Given the description of an element on the screen output the (x, y) to click on. 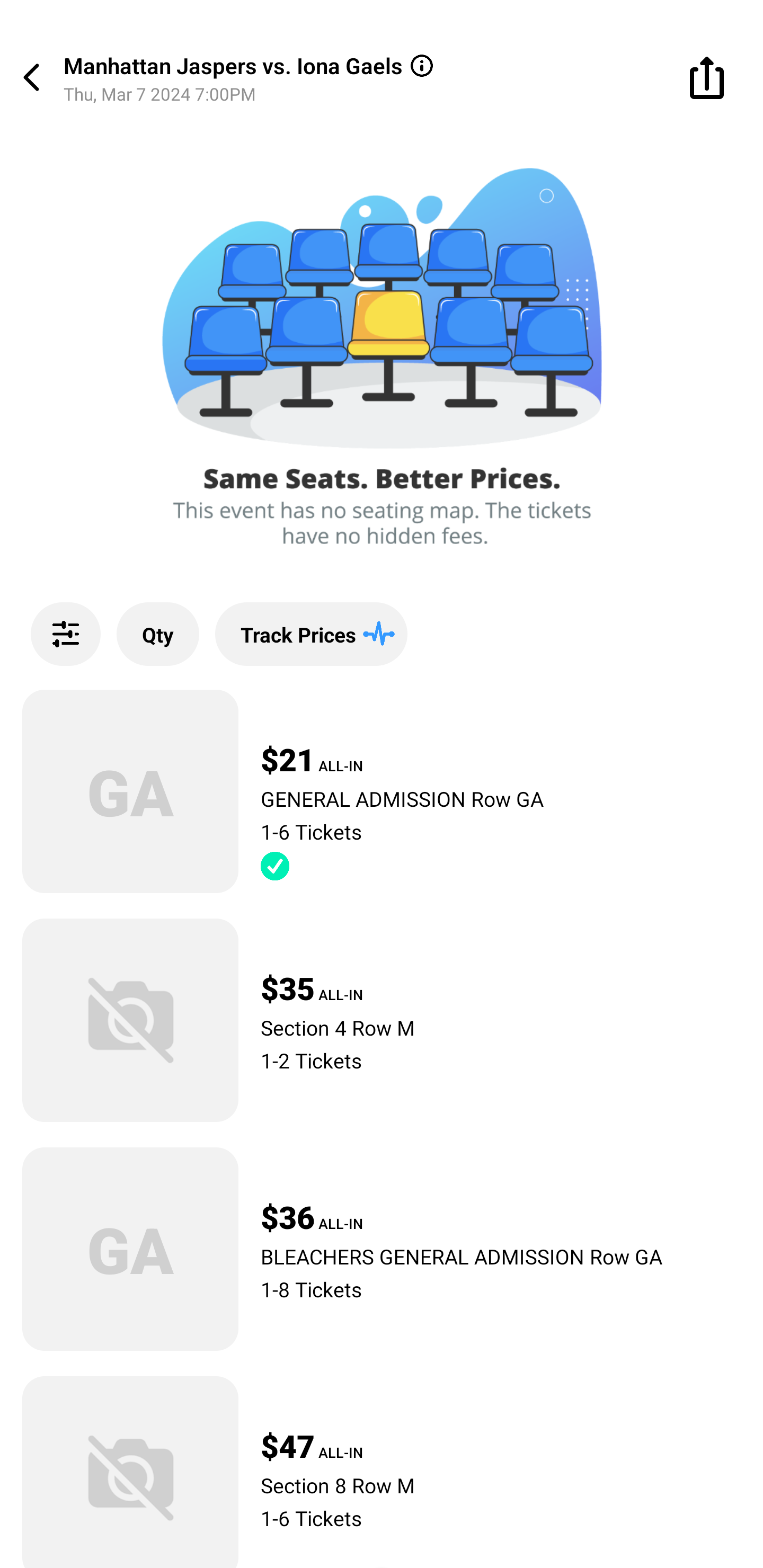
Qty (157, 634)
Track Prices (311, 634)
